Given the description of an element on the screen output the (x, y) to click on. 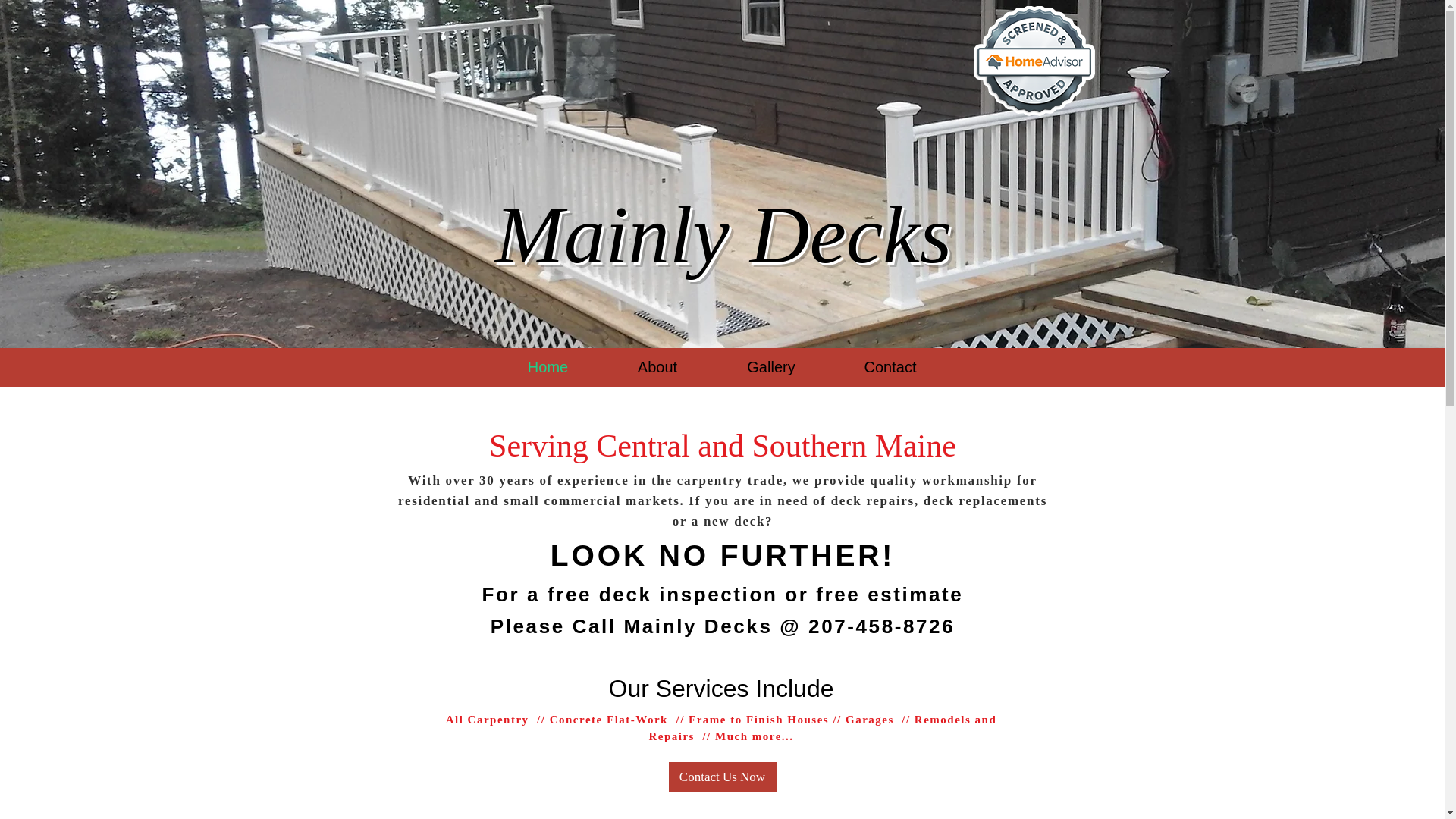
Contact (889, 366)
Home (547, 366)
Gallery (771, 366)
Contact Us Now (722, 777)
Mainly Decks (723, 234)
About (656, 366)
